Given the description of an element on the screen output the (x, y) to click on. 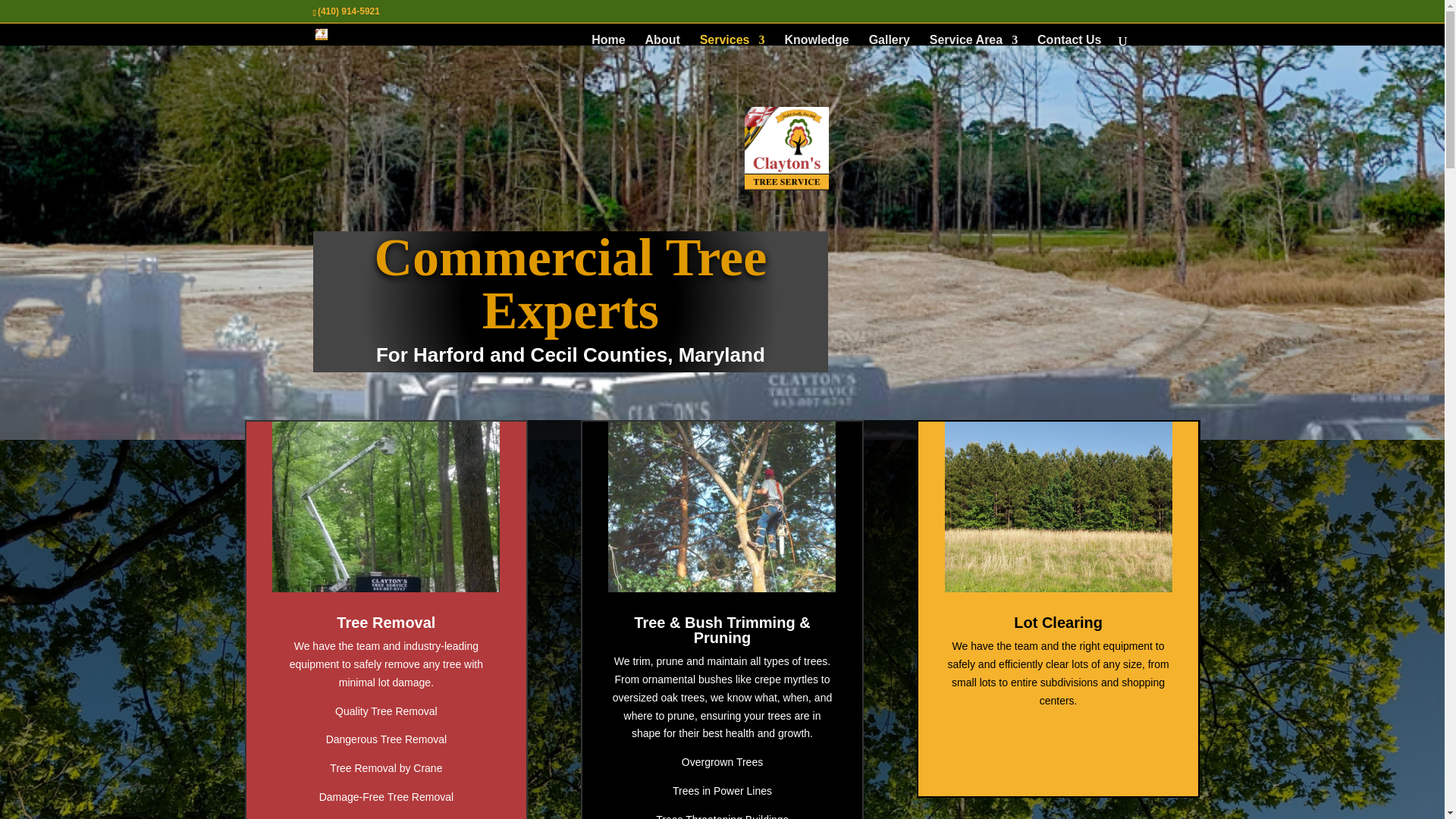
Contact Us (1068, 40)
About (662, 40)
Knowledge (816, 40)
Service Area (973, 40)
Services (732, 40)
Home (607, 40)
Gallery (889, 40)
